Given the description of an element on the screen output the (x, y) to click on. 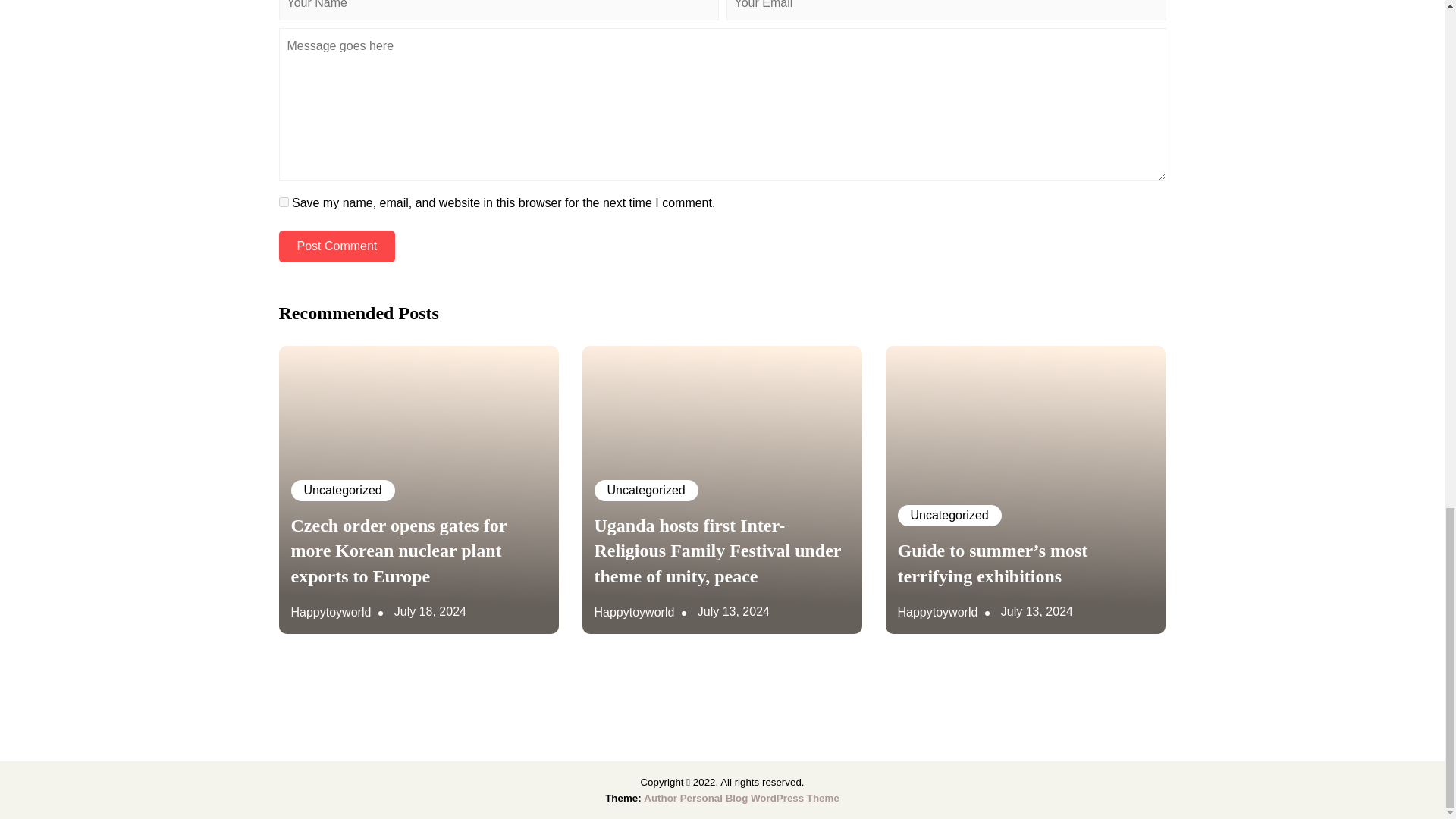
Happytoyworld (634, 611)
yes (283, 202)
Happytoyworld (331, 611)
July 13, 2024 (1037, 611)
Uncategorized (342, 490)
Post Comment (337, 246)
Happytoyworld (938, 611)
Author Personal Blog WordPress Theme (740, 797)
Uncategorized (949, 515)
July 13, 2024 (733, 611)
Uncategorized (646, 490)
July 18, 2024 (429, 611)
